Given the description of an element on the screen output the (x, y) to click on. 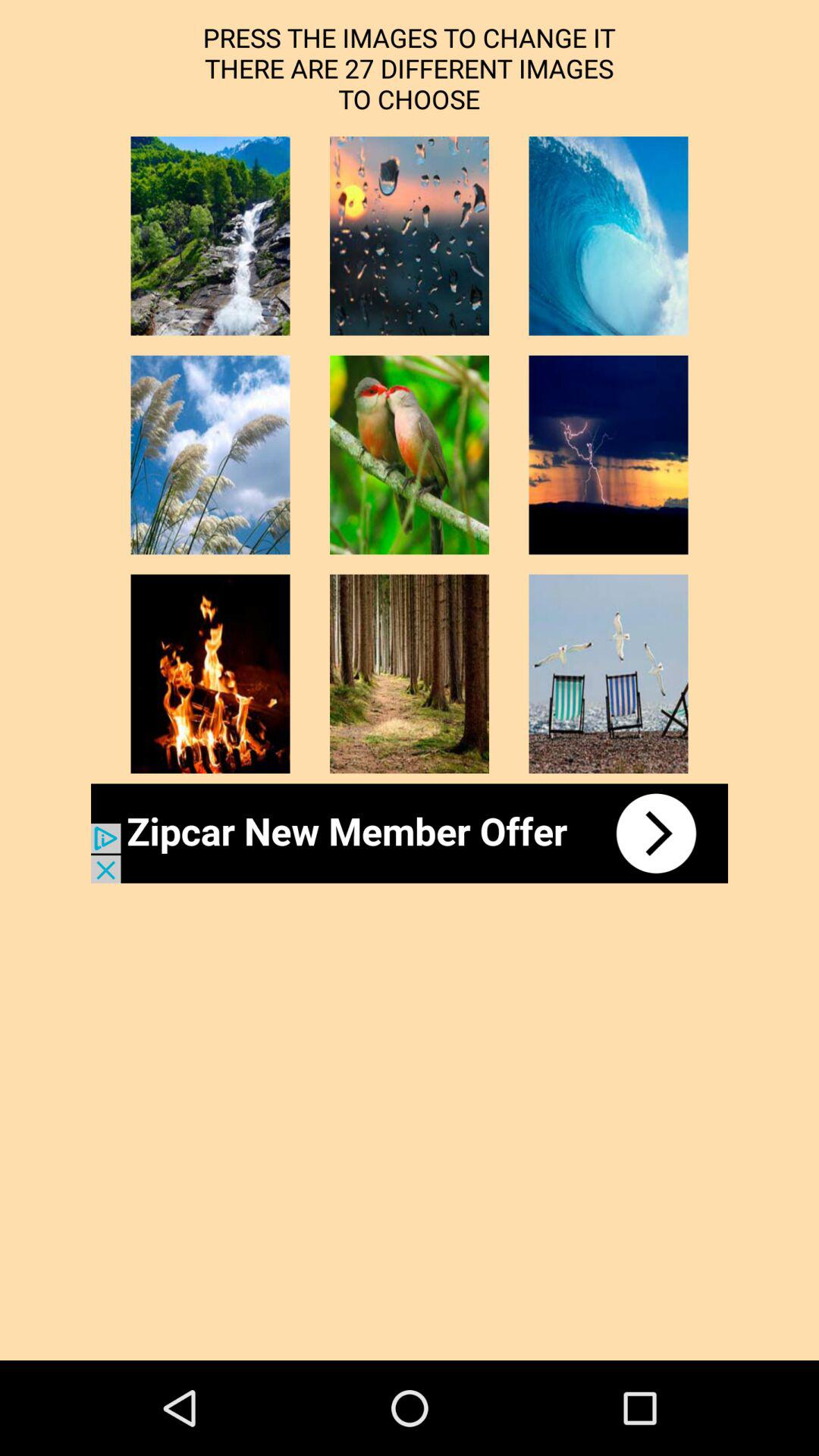
thumbnail (210, 454)
